Given the description of an element on the screen output the (x, y) to click on. 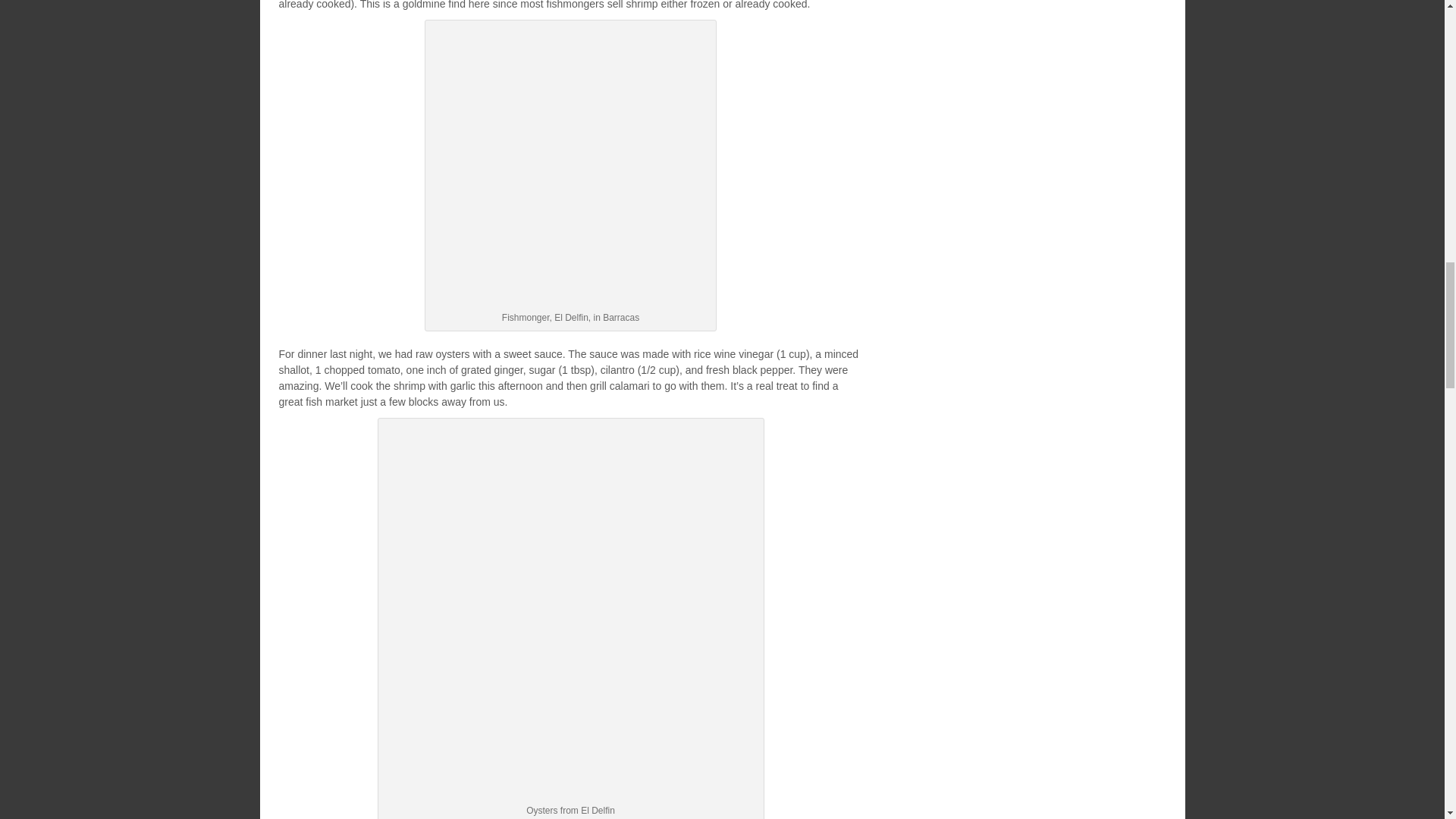
Fishmonger, El Delfin, in Barracas (570, 165)
